Given the description of an element on the screen output the (x, y) to click on. 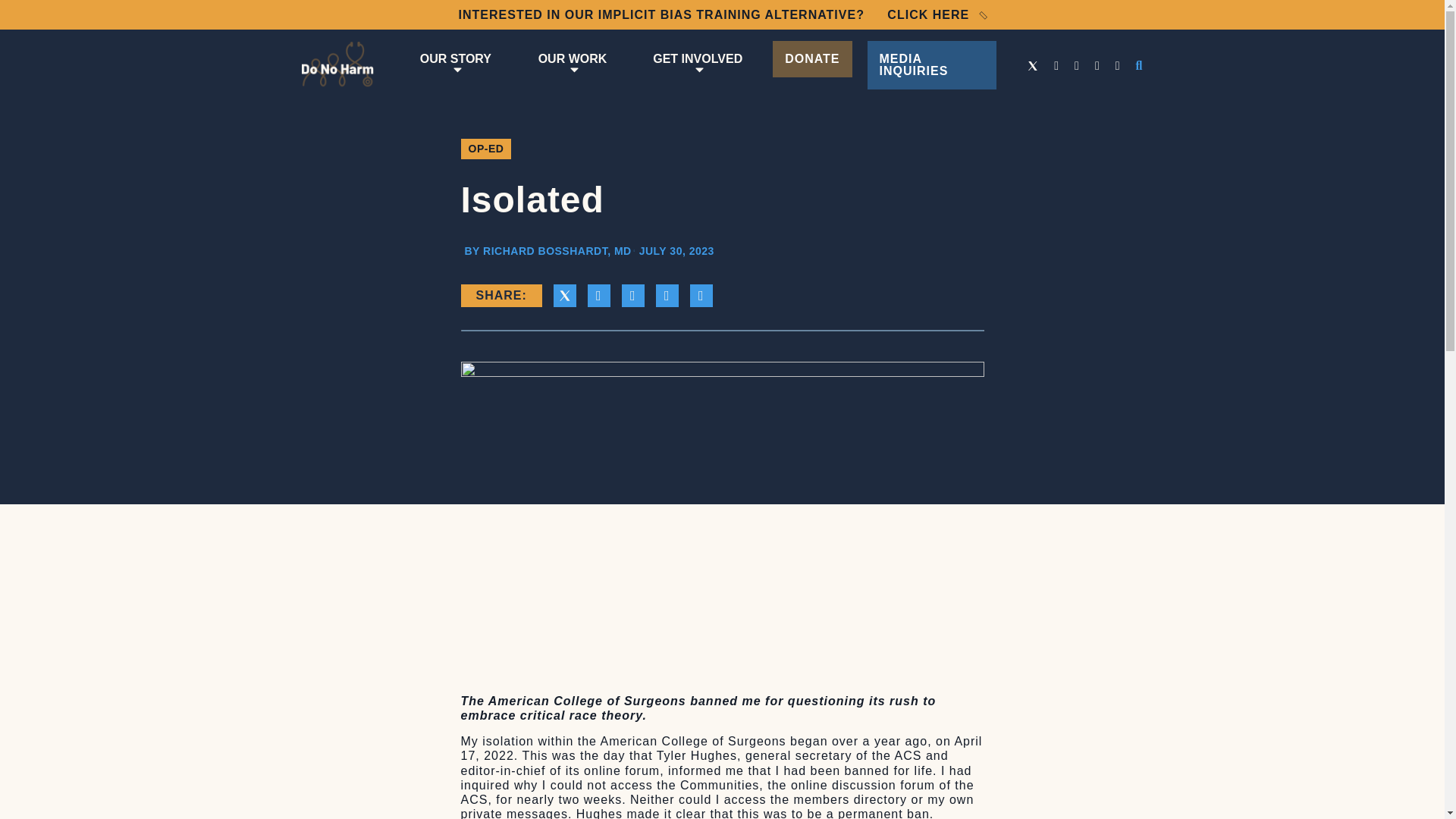
OUR WORK (572, 64)
Twitter (1032, 65)
DONATE (812, 58)
OUR STORY (455, 64)
GET INVOLVED (697, 64)
CLICK HERE (935, 14)
MEDIA INQUIRIES (932, 64)
